Given the description of an element on the screen output the (x, y) to click on. 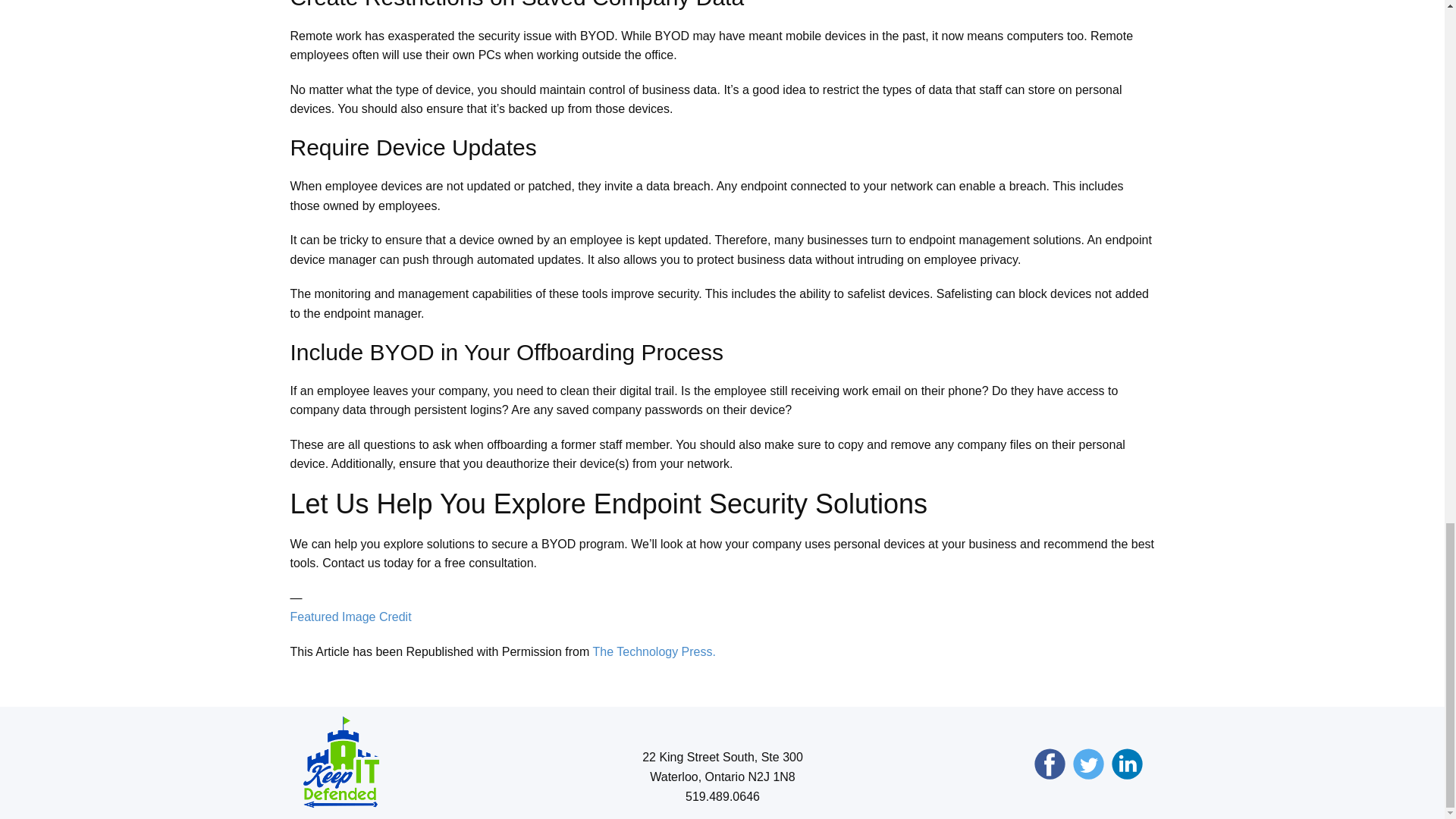
The Technology Press. (654, 651)
Tips for Overcoming Barriers to a Smooth BYOD Program (654, 651)
Featured Image Credit (349, 616)
